Given the description of an element on the screen output the (x, y) to click on. 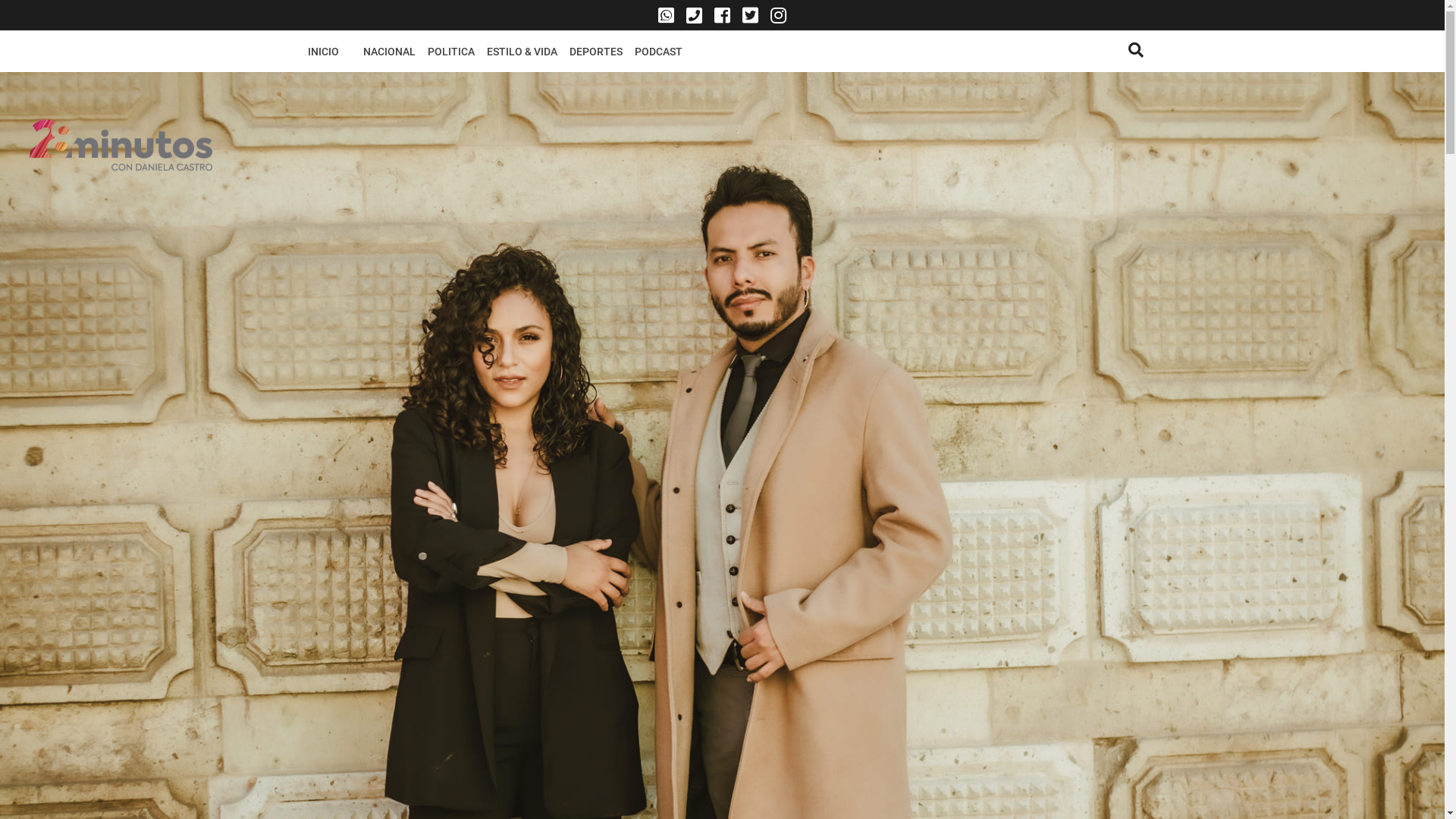
PODCAST Element type: text (657, 51)
DEPORTES Element type: text (594, 51)
POLITICA Element type: text (450, 51)
NACIONAL Element type: text (388, 51)
ESTILO & VIDA Element type: text (521, 51)
INICIO Element type: text (323, 51)
